Given the description of an element on the screen output the (x, y) to click on. 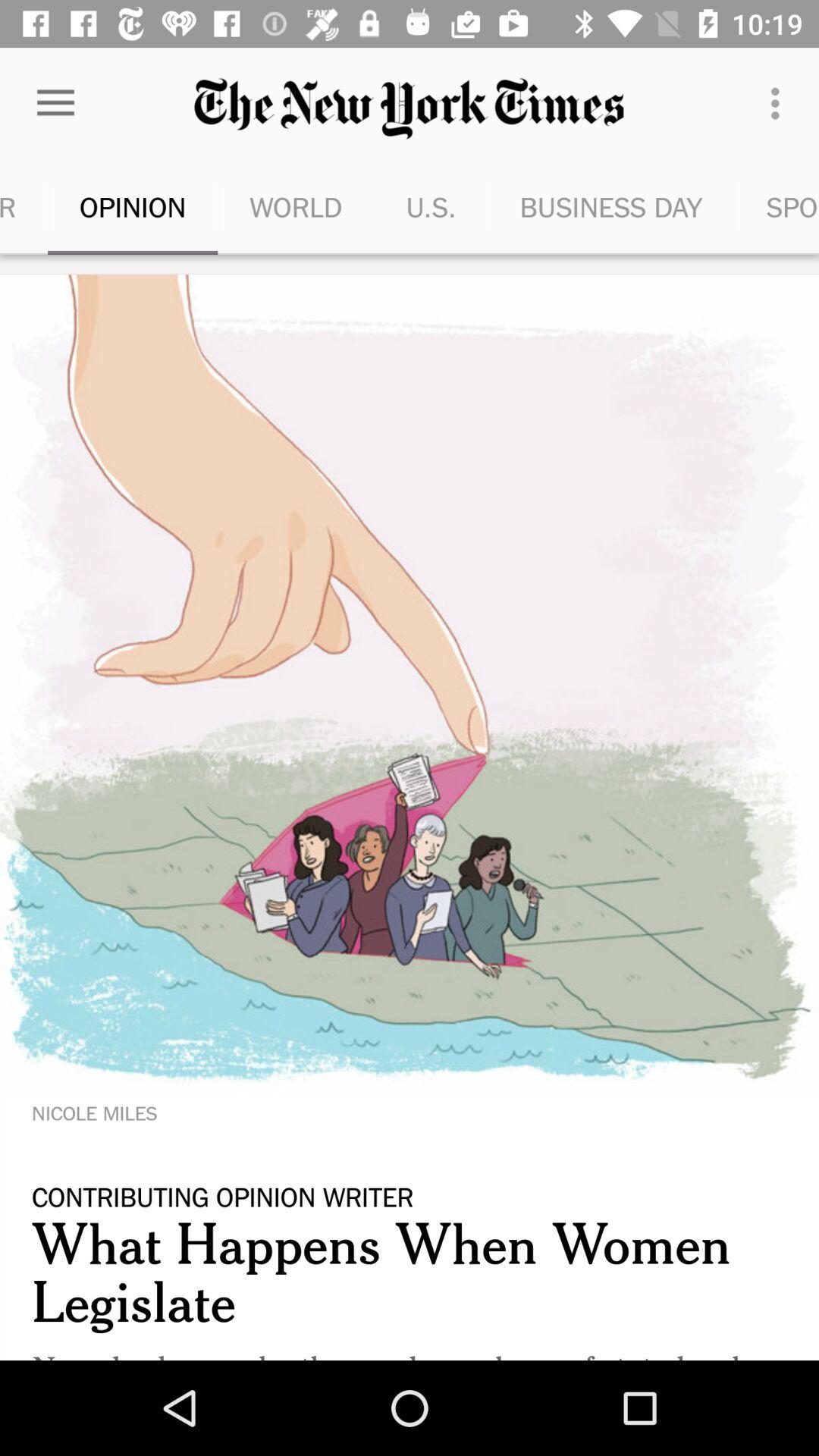
click the item next to world item (430, 206)
